Given the description of an element on the screen output the (x, y) to click on. 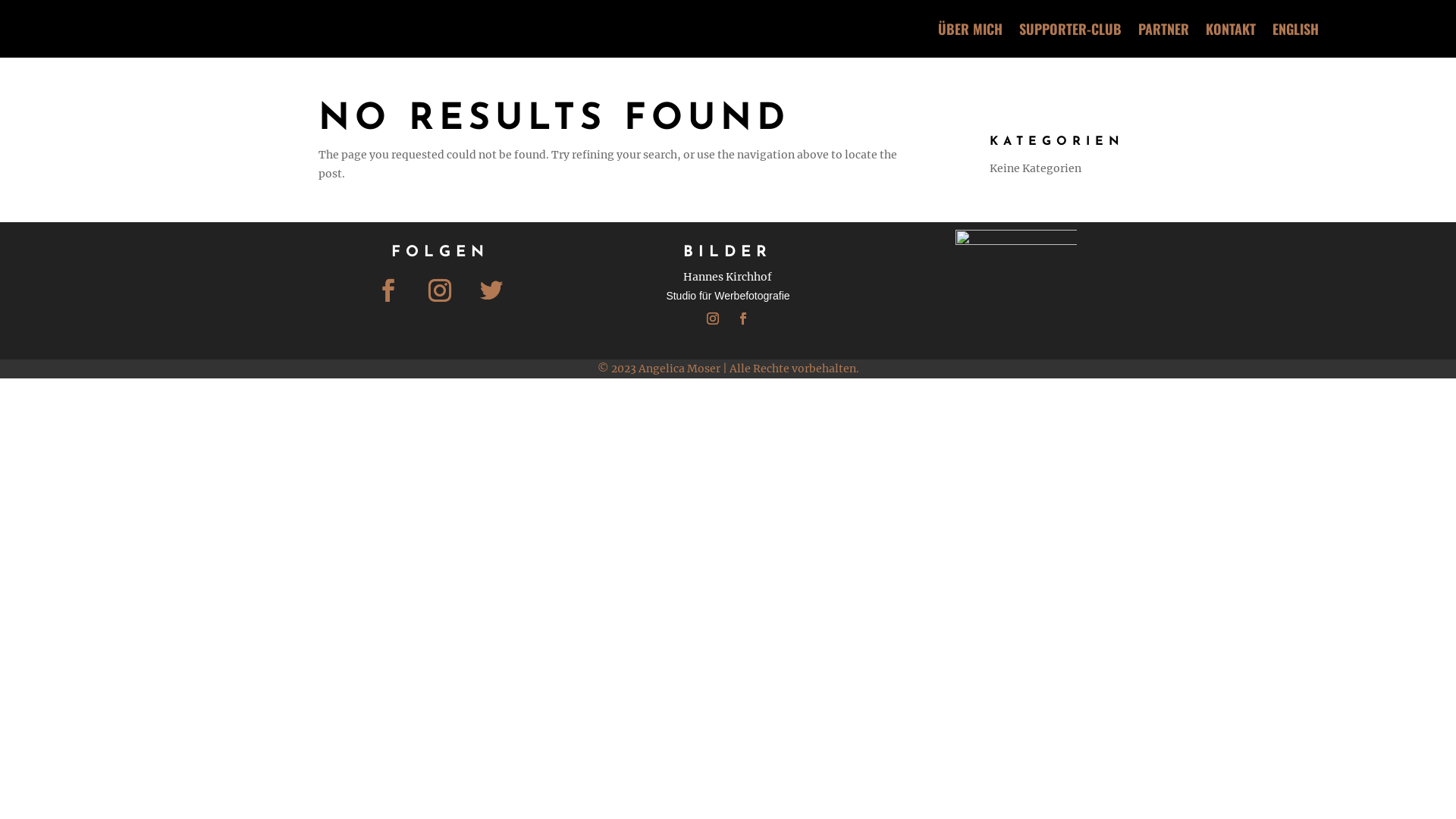
Follow on Facebook Element type: hover (743, 318)
PARTNER Element type: text (1163, 28)
ENGLISH Element type: text (1295, 28)
hannes-kirchhof-logo Element type: hover (1015, 290)
Follow on Instagram Element type: hover (439, 290)
SUPPORTER-CLUB Element type: text (1070, 28)
KONTAKT Element type: text (1230, 28)
Follow on Instagram Element type: hover (712, 318)
Follow on Twitter Element type: hover (491, 290)
Follow on Facebook Element type: hover (388, 290)
